Given the description of an element on the screen output the (x, y) to click on. 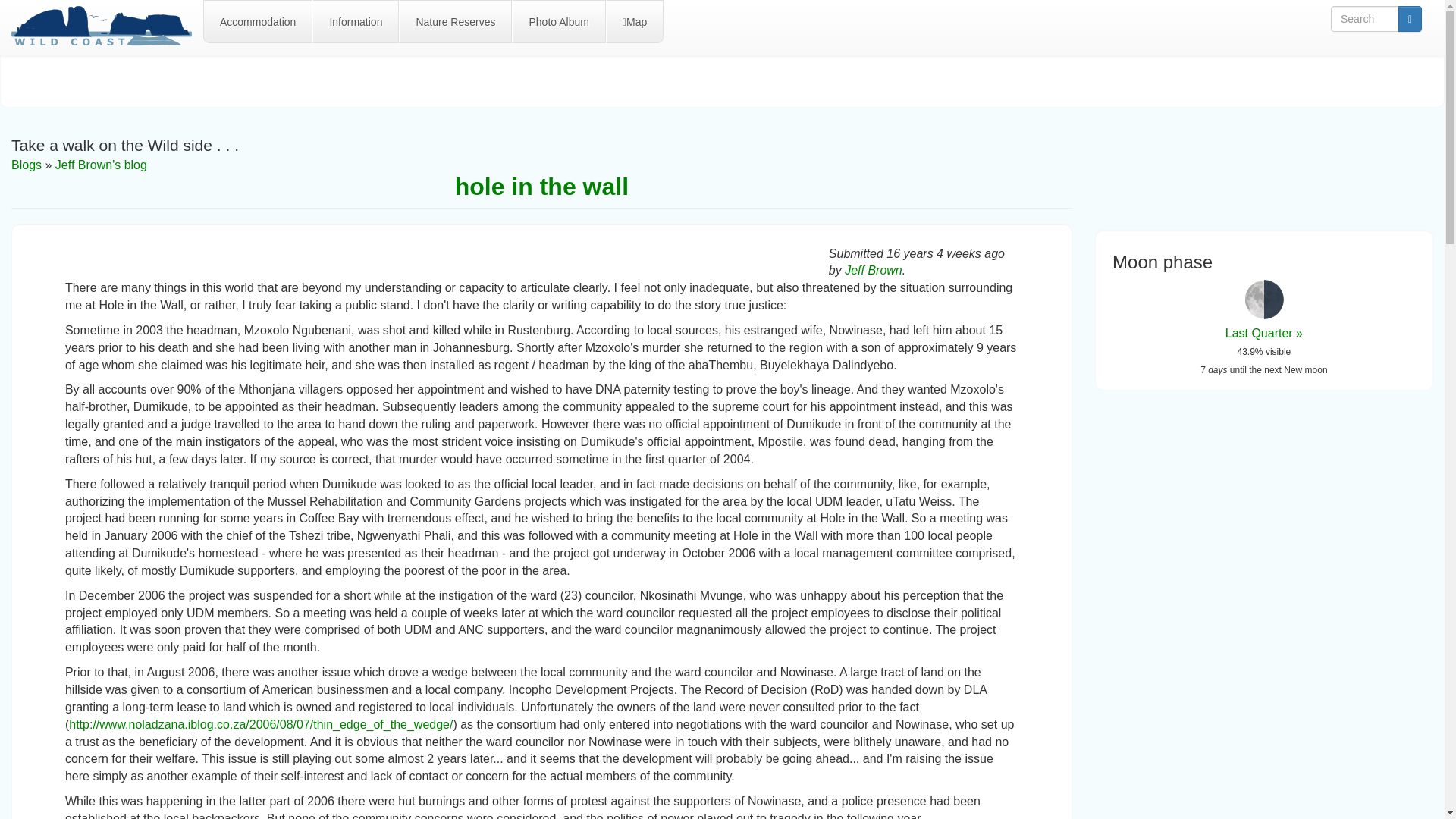
Mobile Menu (107, 26)
